Given the description of an element on the screen output the (x, y) to click on. 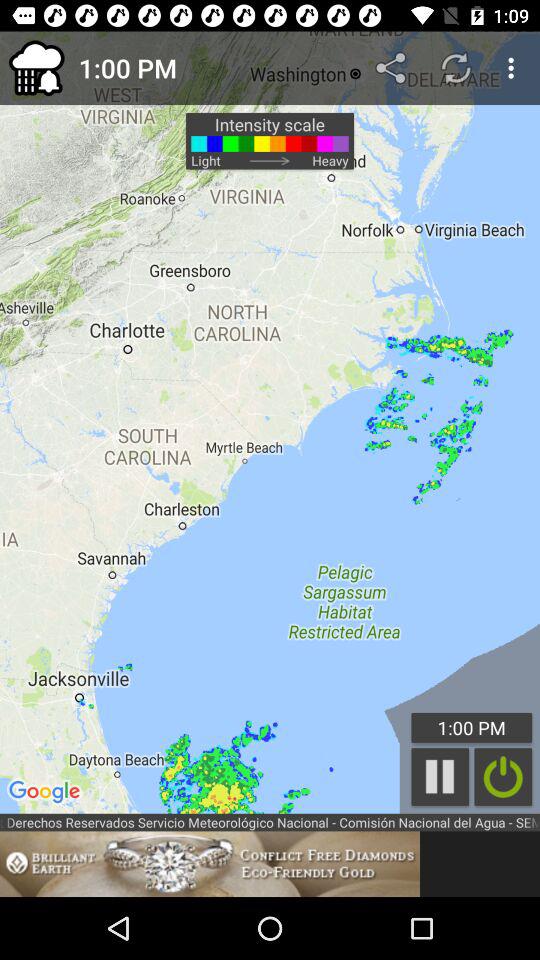
turn off icon above the 1:00 pm (392, 67)
